Given the description of an element on the screen output the (x, y) to click on. 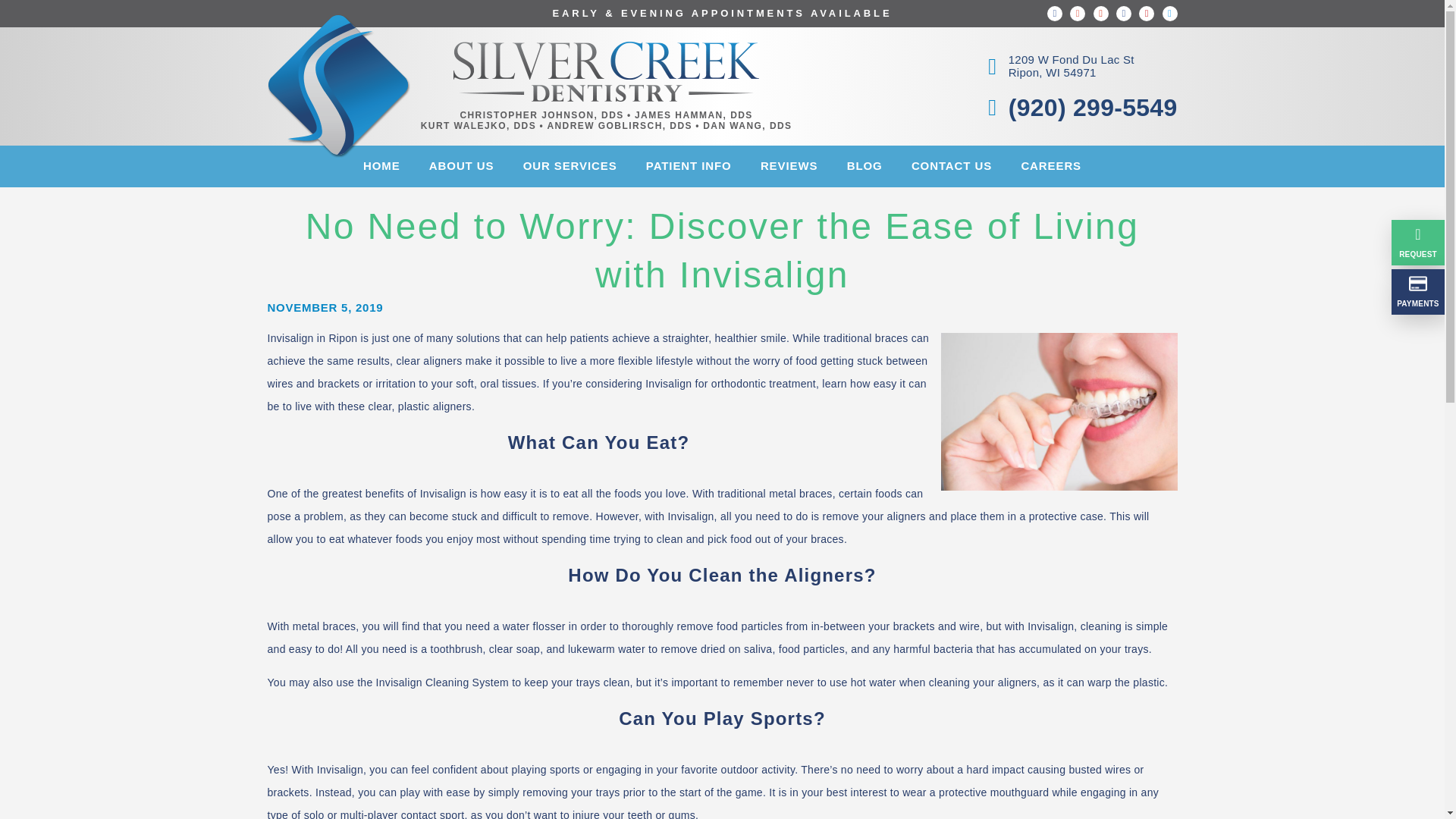
HOME (381, 166)
CHRISTOPHER JOHNSON, DDS (1055, 66)
JAMES HAMMAN, DDS (541, 115)
KURT WALEJKO, DDS (693, 115)
OUR SERVICES (477, 126)
DAN WANG, DDS (569, 166)
ABOUT US (747, 126)
ANDREW GOBLIRSCH, DDS (461, 166)
